Given the description of an element on the screen output the (x, y) to click on. 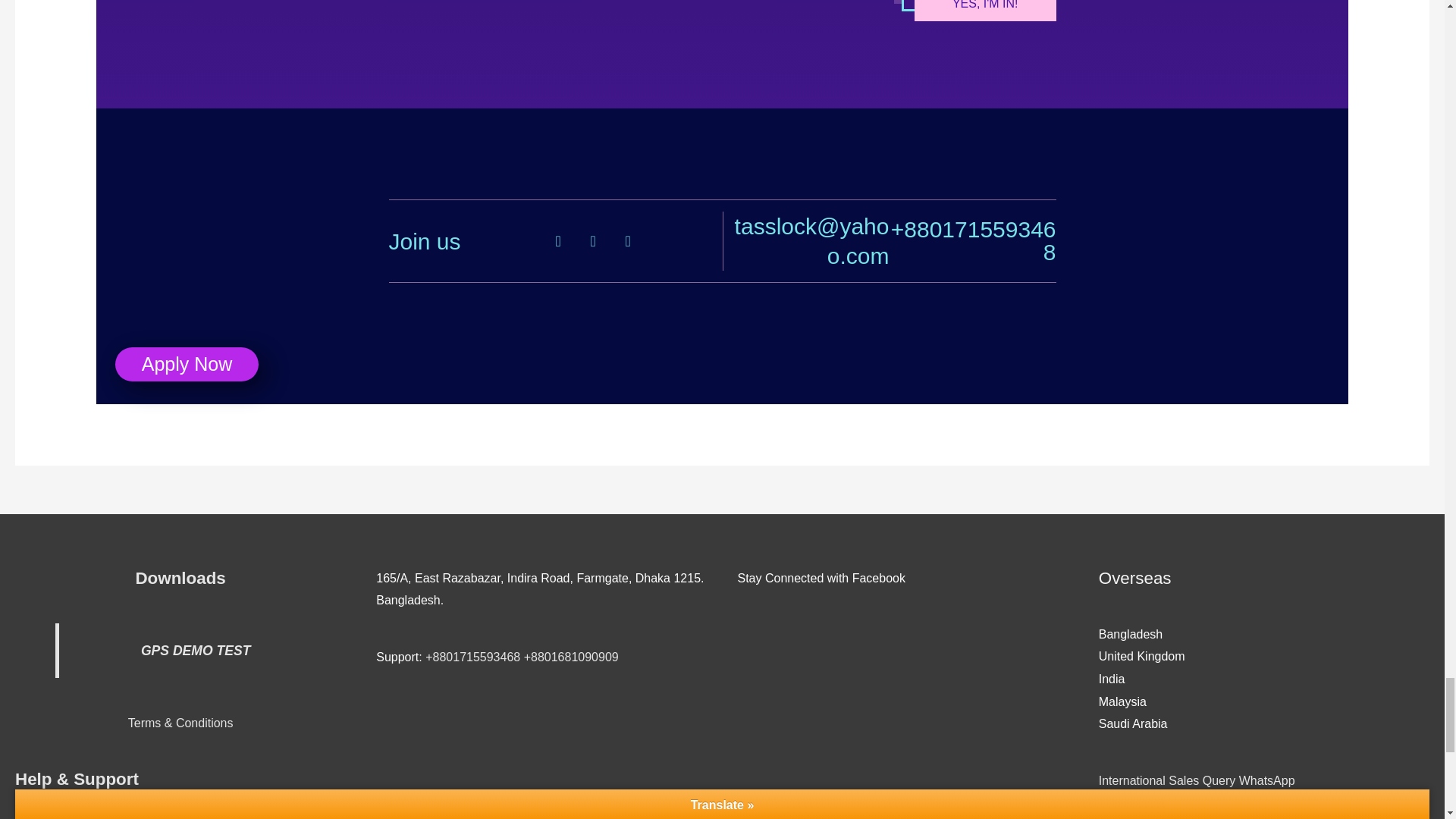
Apply Now (187, 364)
YES, I'M IN! (985, 10)
8801681090909 (574, 656)
GPS DEMO TEST (195, 650)
Downloads (180, 578)
International Sales Query WhatsApp (1197, 780)
